Given the description of an element on the screen output the (x, y) to click on. 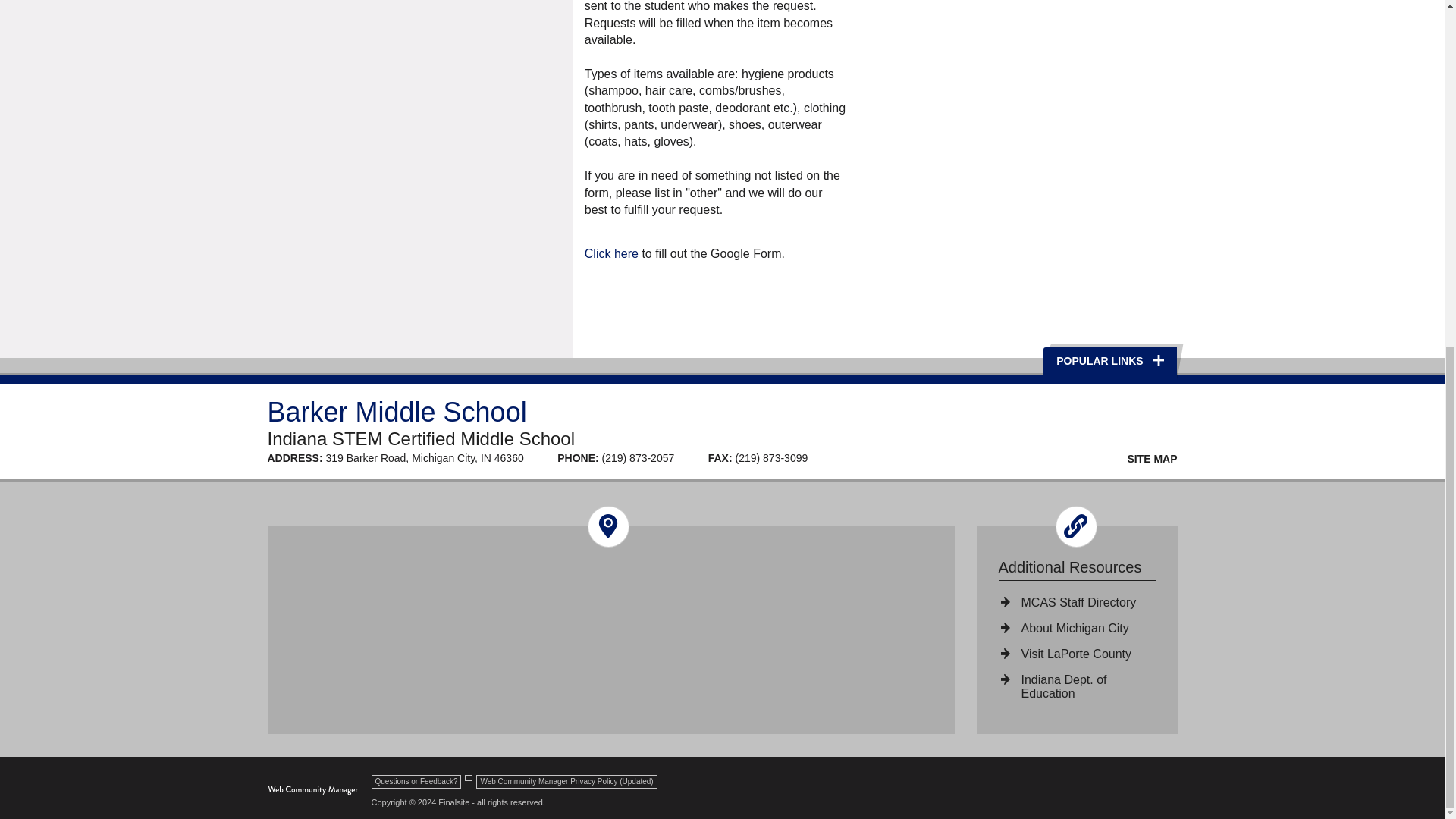
Finalsite - all rights reserved (312, 789)
Barker Care Closet  (427, 37)
Google Map (611, 629)
